Given the description of an element on the screen output the (x, y) to click on. 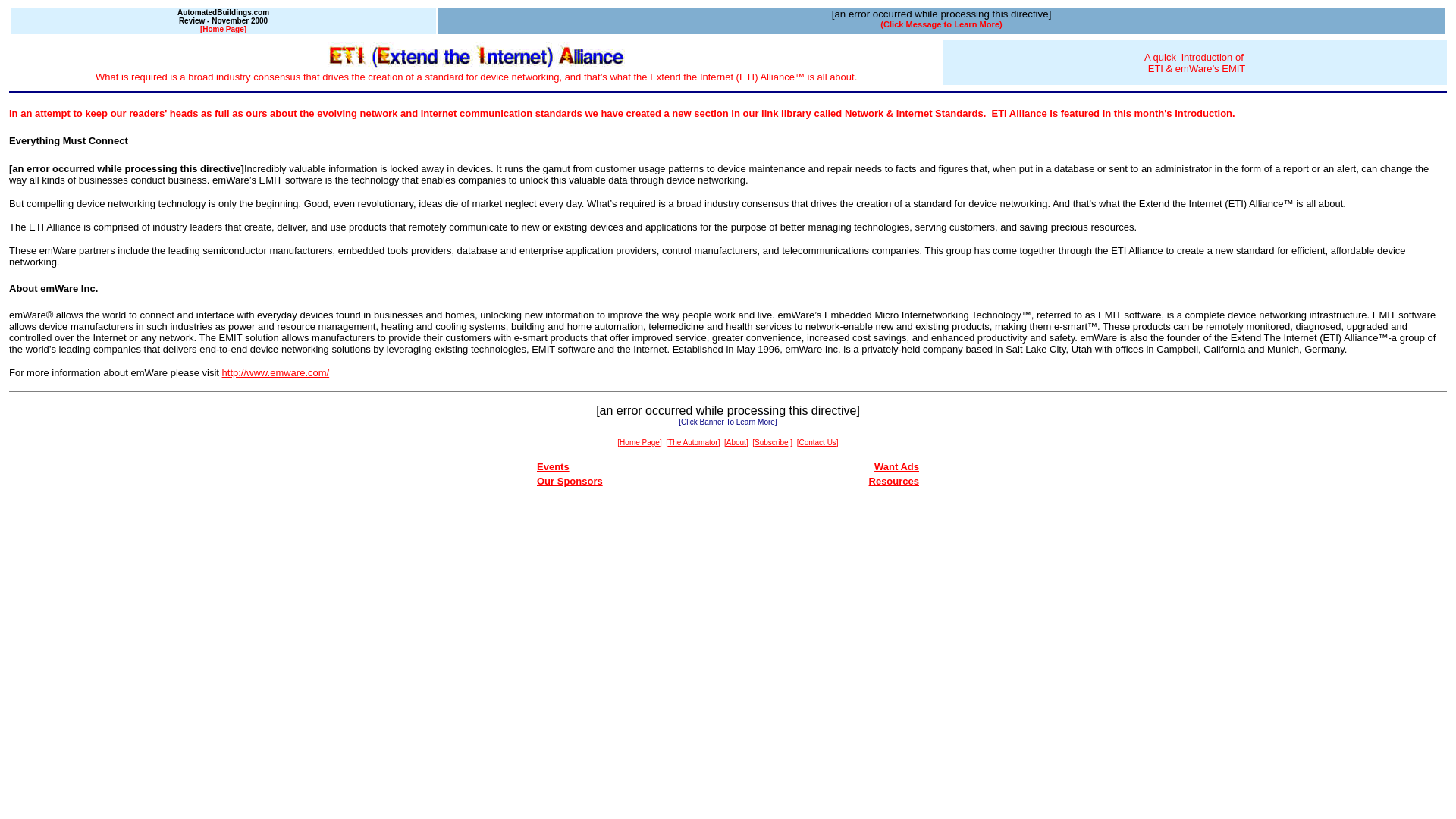
Want Ads (896, 466)
Events (553, 466)
Resources (893, 480)
Subscribe (770, 440)
Our Sponsors (569, 480)
